Given the description of an element on the screen output the (x, y) to click on. 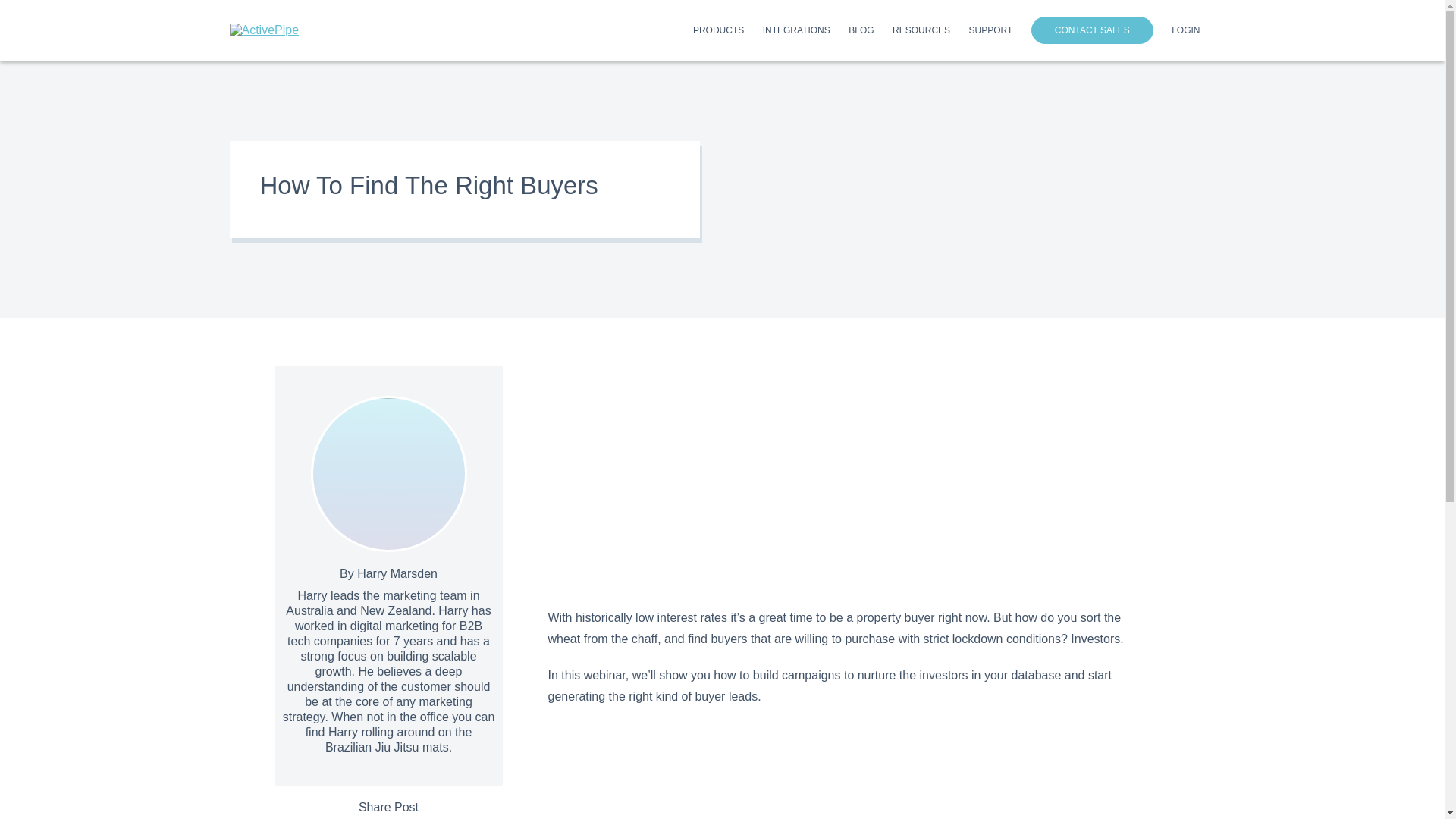
INTEGRATIONS (795, 33)
RESOURCES (921, 33)
BLOG (860, 33)
LOGIN (1185, 33)
SUPPORT (991, 33)
PRODUCTS (718, 33)
CONTACT SALES (1091, 30)
